Given the description of an element on the screen output the (x, y) to click on. 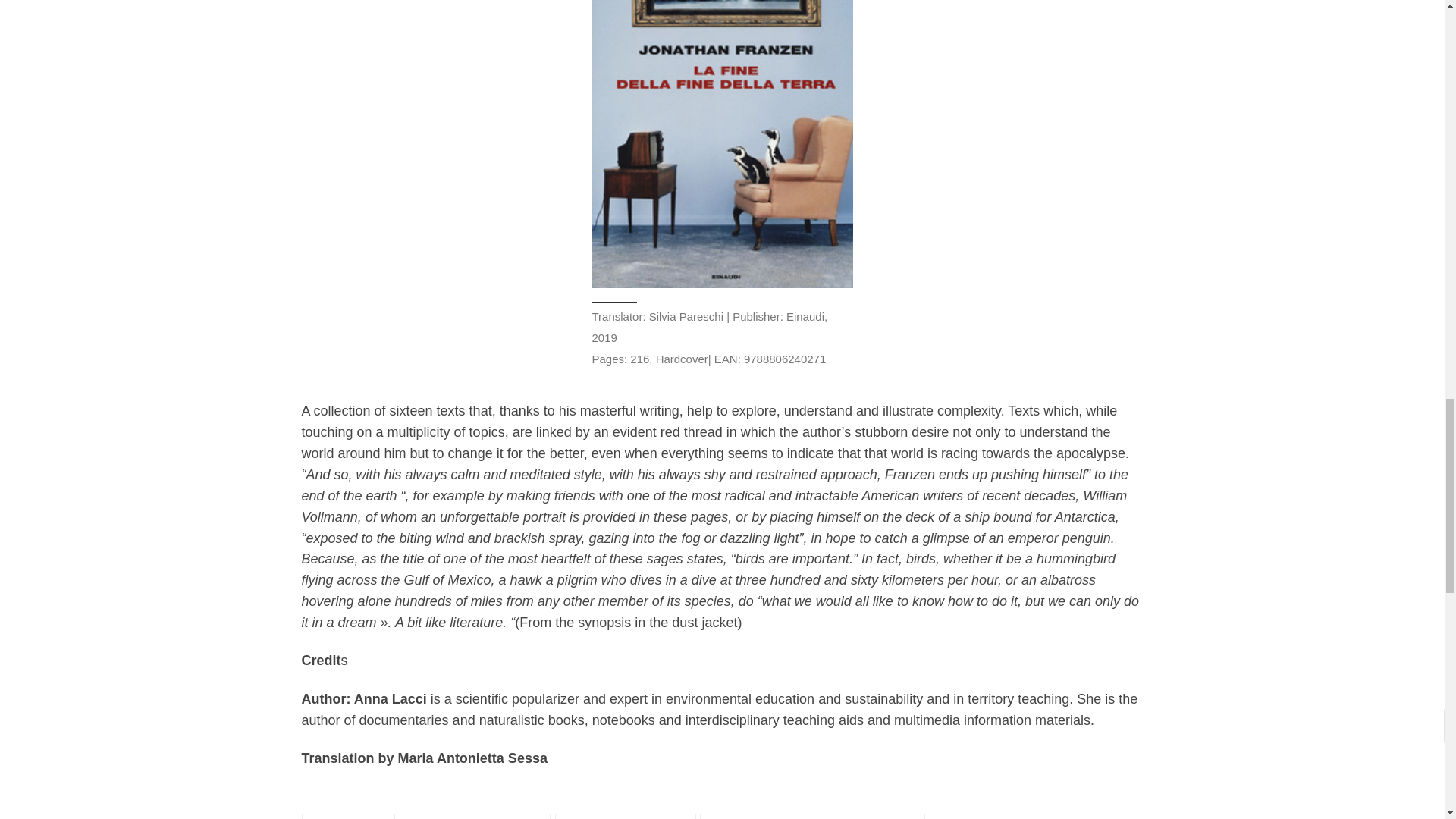
View all posts in Anna Lacci (348, 816)
View all posts in climatic apocalypse (474, 816)
View all posts in the end of the end of the earth (812, 816)
View all posts in Jonathan Franzen (624, 816)
